Given the description of an element on the screen output the (x, y) to click on. 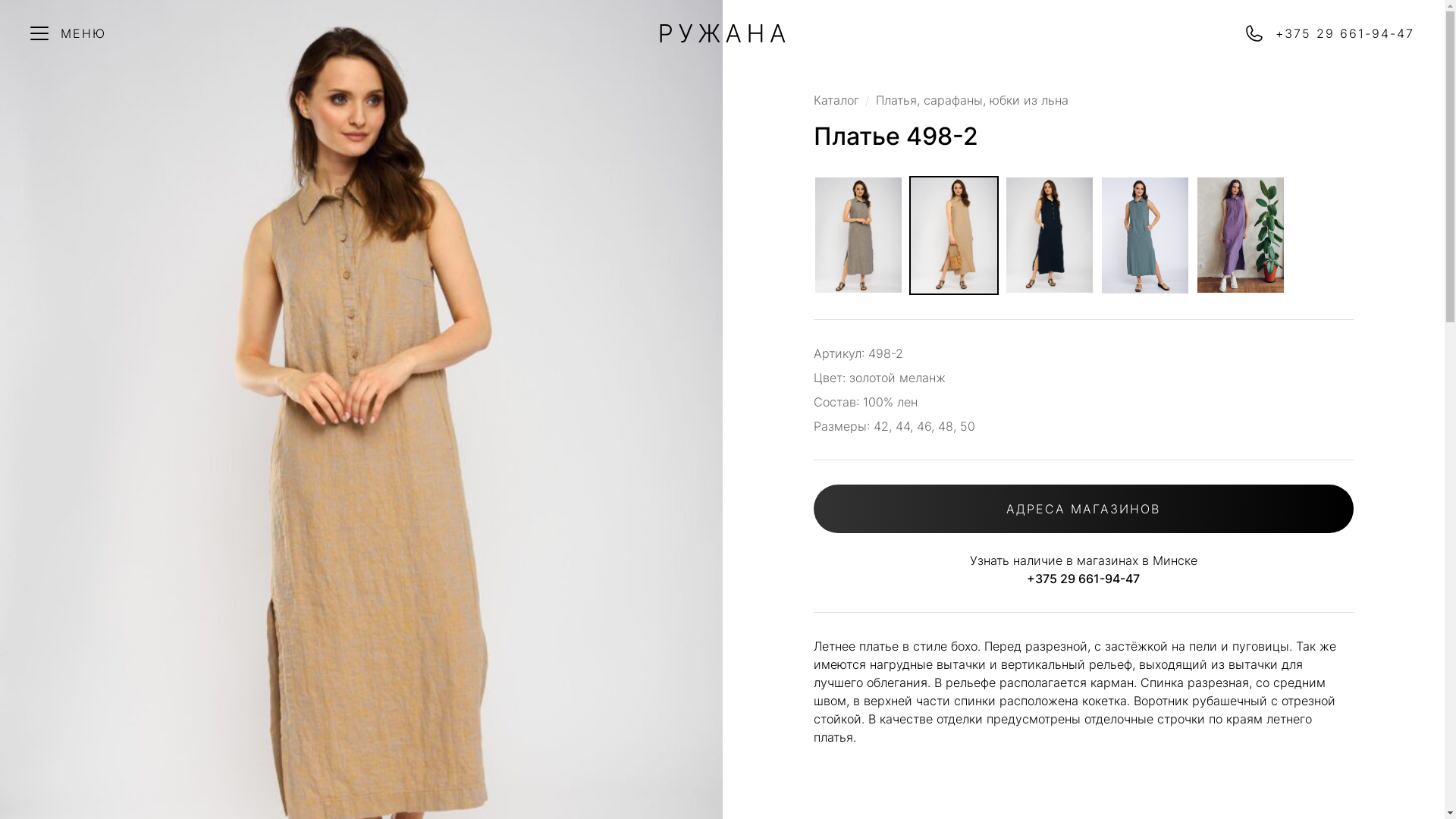
+375 29 661-94-47 Element type: text (1082, 578)
+375 29 661-94-47 Element type: text (1203, 33)
